Given the description of an element on the screen output the (x, y) to click on. 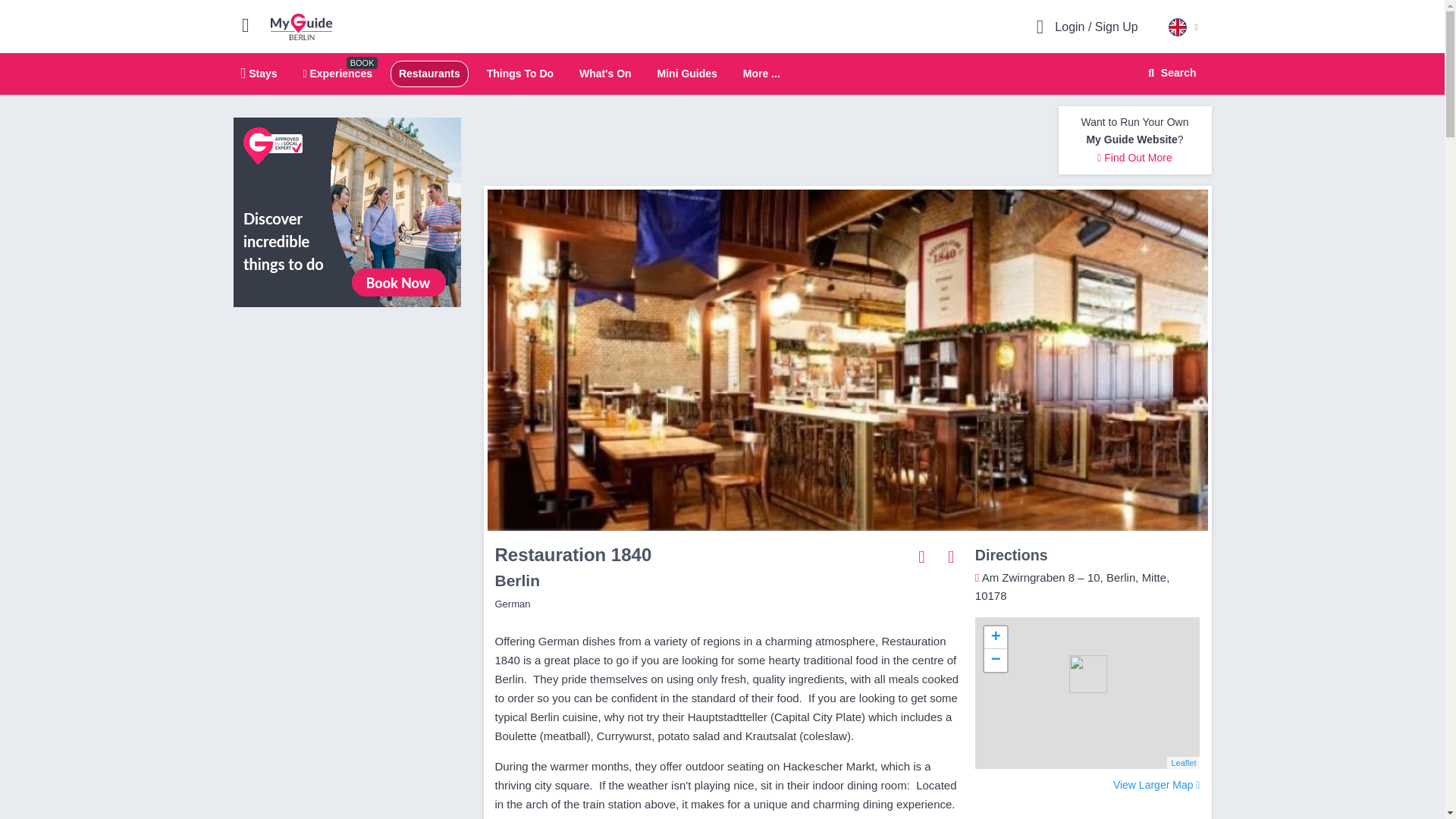
Zoom in (995, 637)
Restaurants (429, 73)
A JS library for interactive maps (1182, 762)
My Guide Berlin (300, 25)
View All Experiences (346, 211)
Experiences (337, 73)
What's On (605, 73)
Search Website (1170, 73)
Zoom out (995, 660)
Larger Map for Company: Restauration 1840 Berlin (1156, 785)
